Given the description of an element on the screen output the (x, y) to click on. 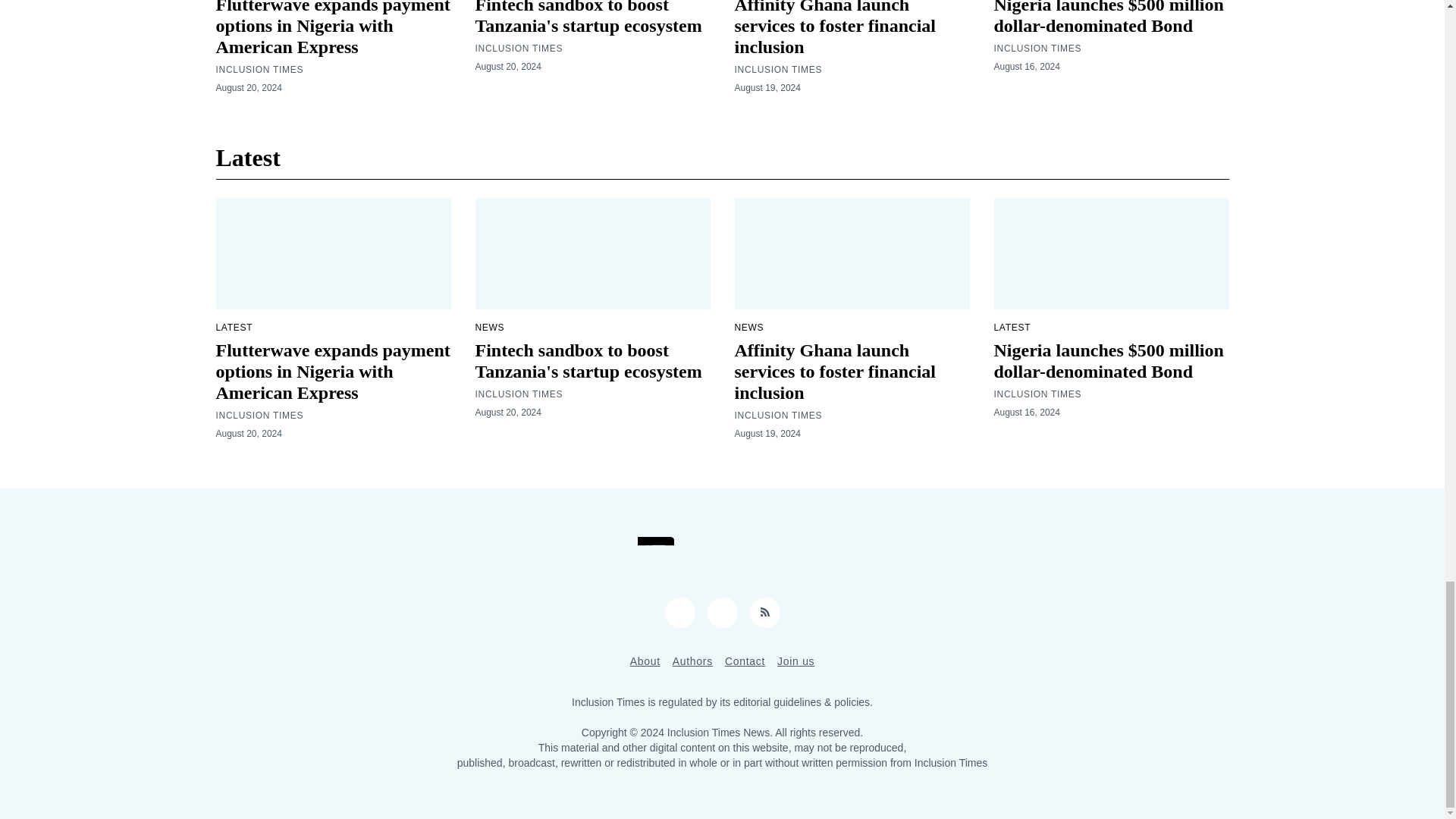
Fintech sandbox to boost Tanzania's startup ecosystem (587, 18)
INCLUSION TIMES (518, 48)
INCLUSION TIMES (777, 69)
Affinity Ghana launch services to foster financial inclusion (834, 28)
INCLUSION TIMES (1036, 48)
INCLUSION TIMES (258, 69)
